Given the description of an element on the screen output the (x, y) to click on. 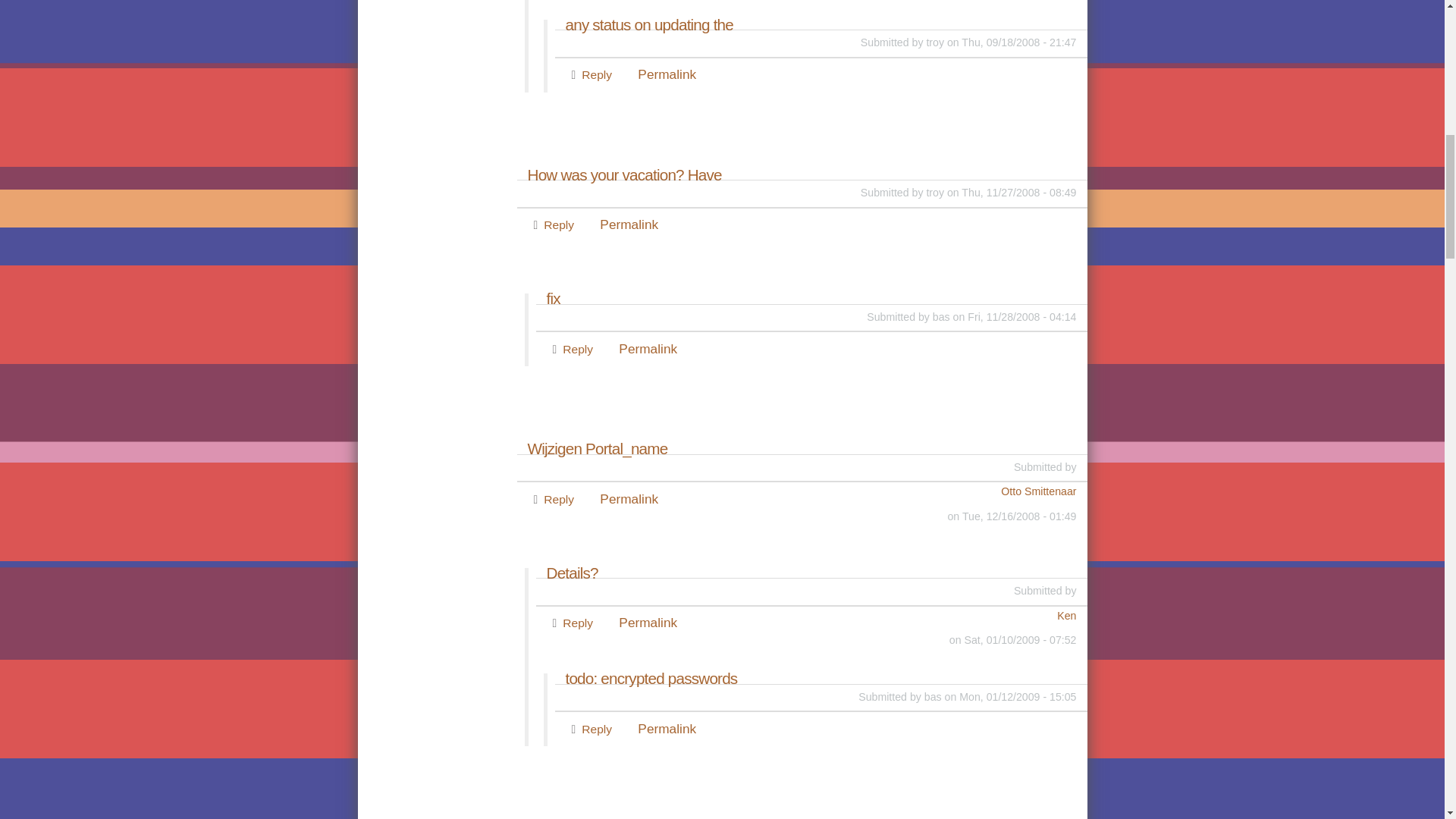
Ken (805, 615)
Permalink (647, 348)
Permalink (628, 224)
Permalink (666, 73)
Permalink (628, 498)
Reply (558, 499)
Otto Smittenaar (796, 491)
Permalink (647, 622)
Permalink (666, 728)
fix (810, 298)
any status on updating the (820, 25)
Reply (577, 622)
Reply (558, 224)
Reply (577, 349)
How was your vacation? Have (801, 174)
